Given the description of an element on the screen output the (x, y) to click on. 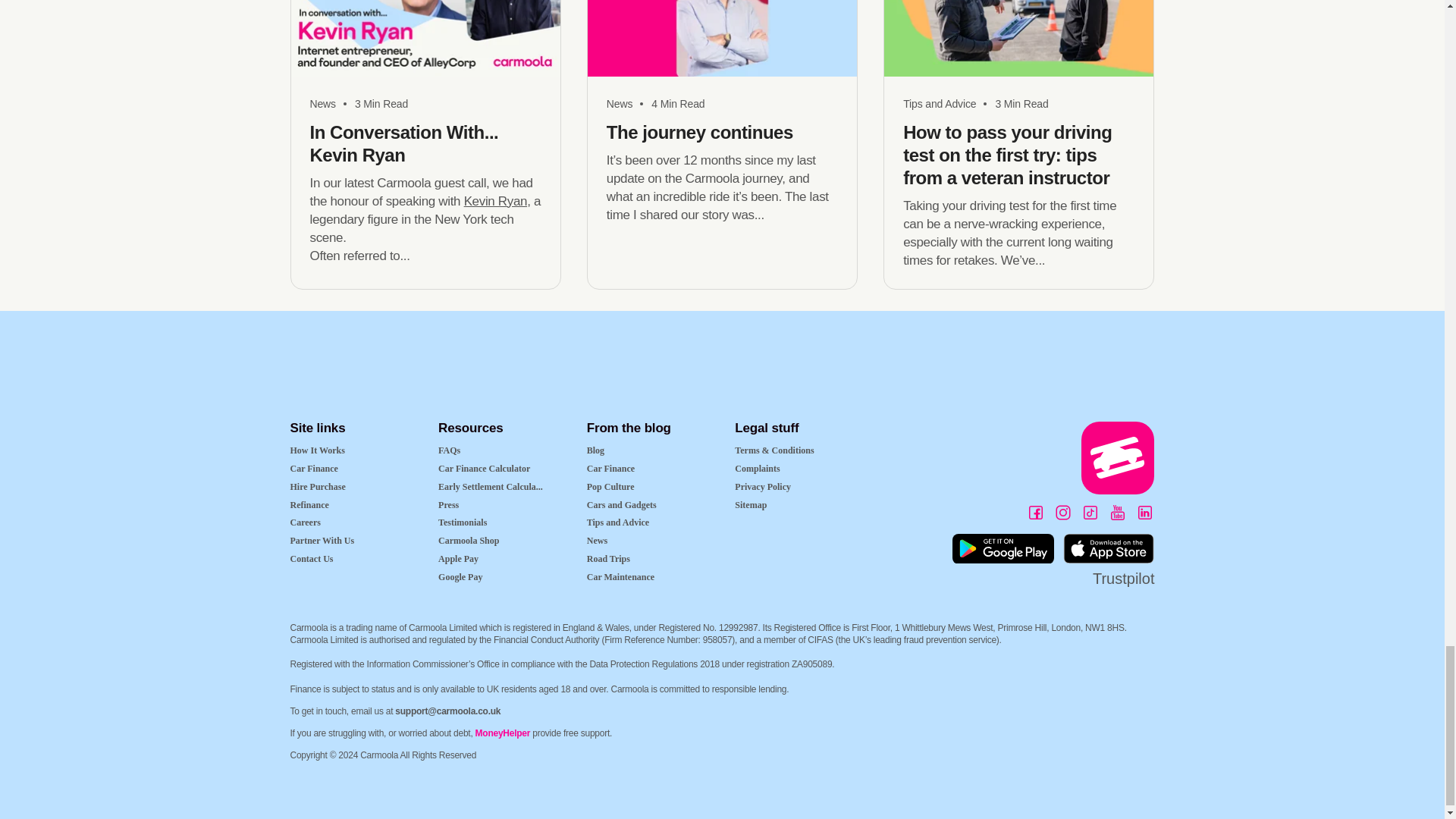
In Conversation With... Kevin Ryan (381, 103)
The journey continues (677, 103)
Carmoola App Icon (1117, 457)
